Given the description of an element on the screen output the (x, y) to click on. 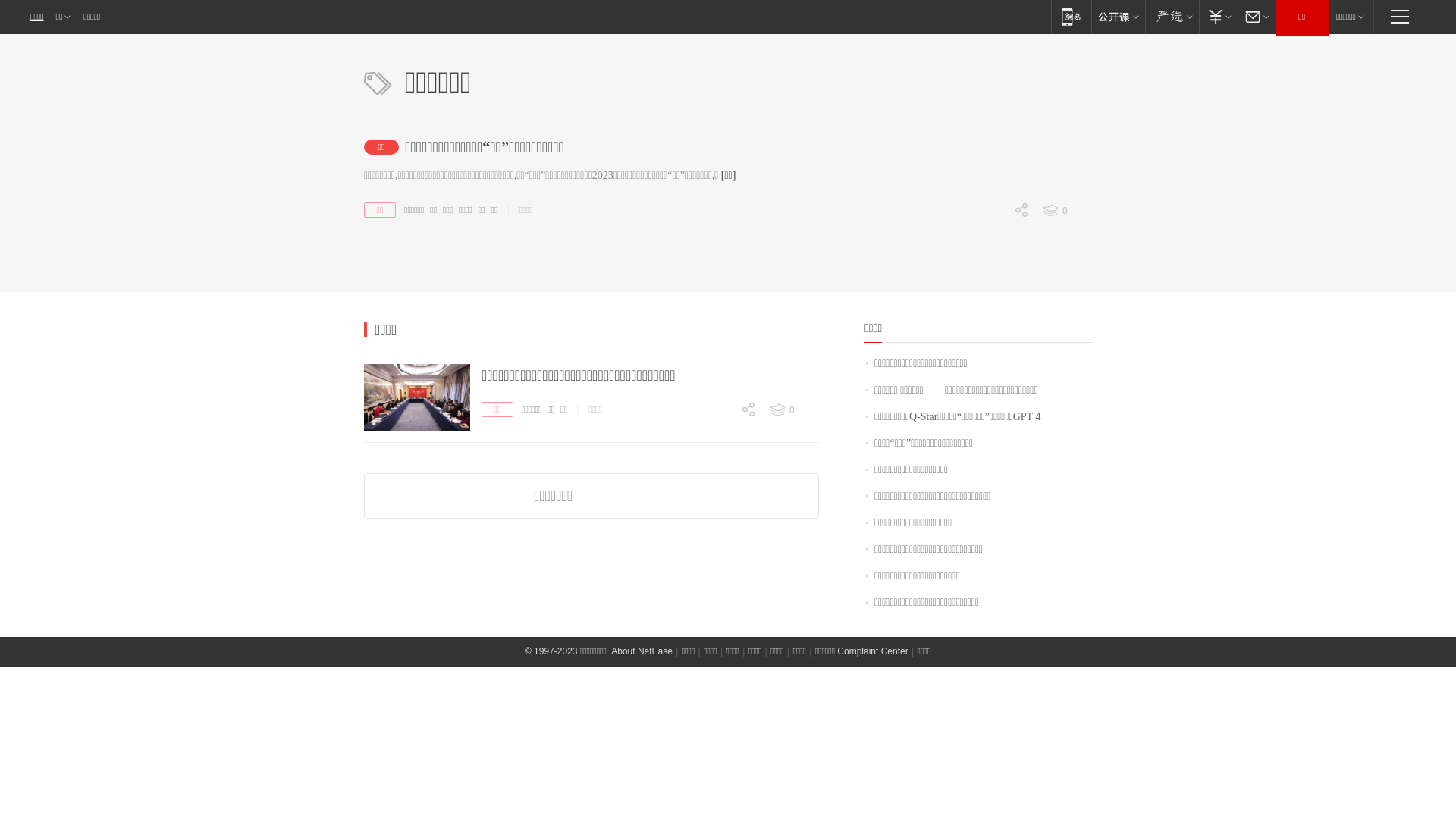
About NetEase Element type: text (641, 651)
0 Element type: text (991, 316)
0 Element type: text (718, 436)
0 Element type: text (991, 289)
0 Element type: text (718, 489)
0 Element type: text (718, 515)
0 Element type: text (1065, 210)
0 Element type: text (792, 409)
0 Element type: text (991, 236)
